Given the description of an element on the screen output the (x, y) to click on. 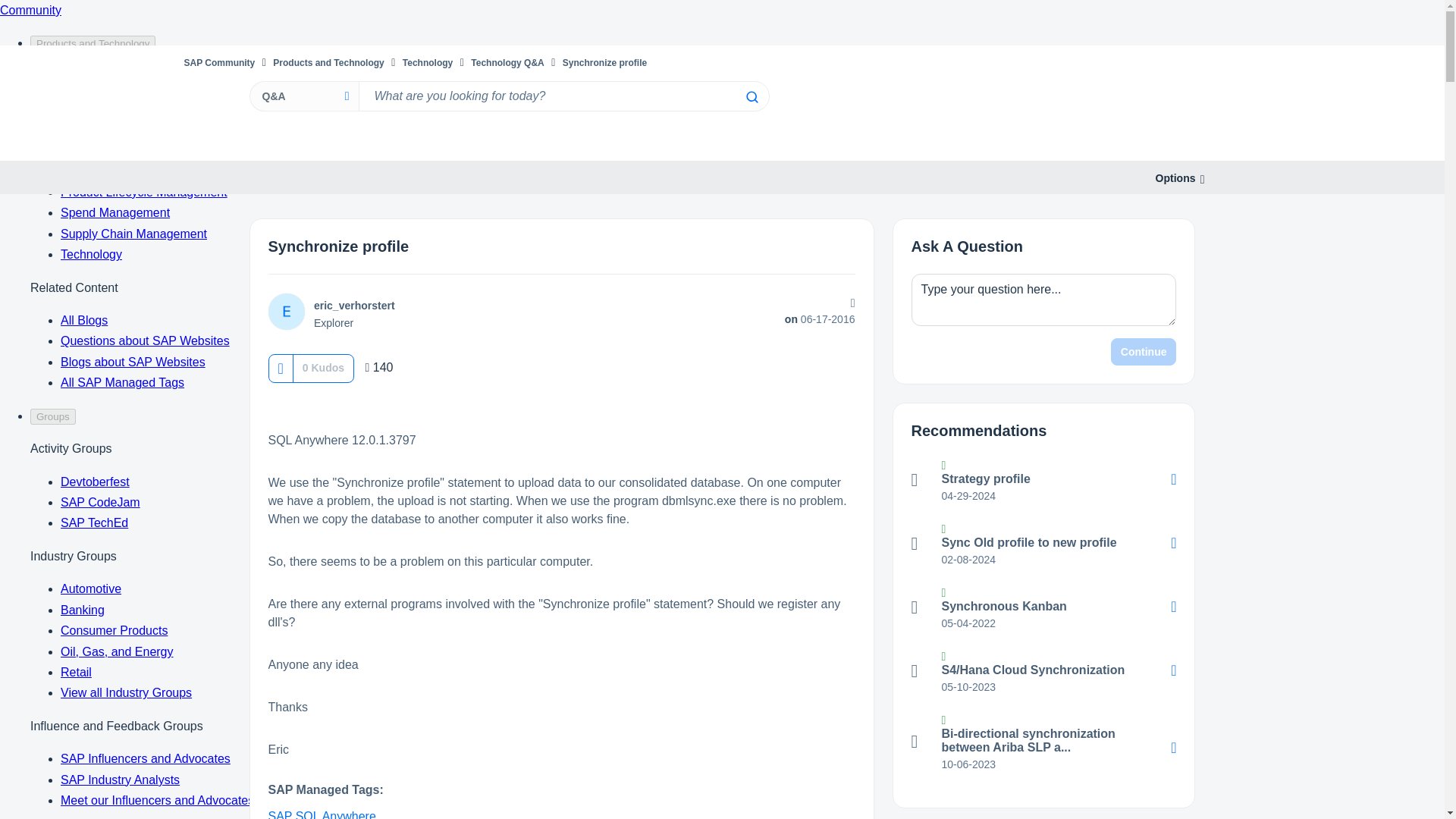
Search (563, 96)
Click here to give kudos to this post. (279, 367)
Search Granularity (303, 96)
SAP Community (218, 62)
Show option menu (1176, 178)
The total number of kudos this post has received. (323, 367)
Options (1176, 178)
SAP SQL Anywhere (321, 814)
Search (750, 96)
Technology (427, 62)
Continue (1143, 351)
Search (750, 96)
Search (750, 96)
Products and Technology (328, 62)
